Given the description of an element on the screen output the (x, y) to click on. 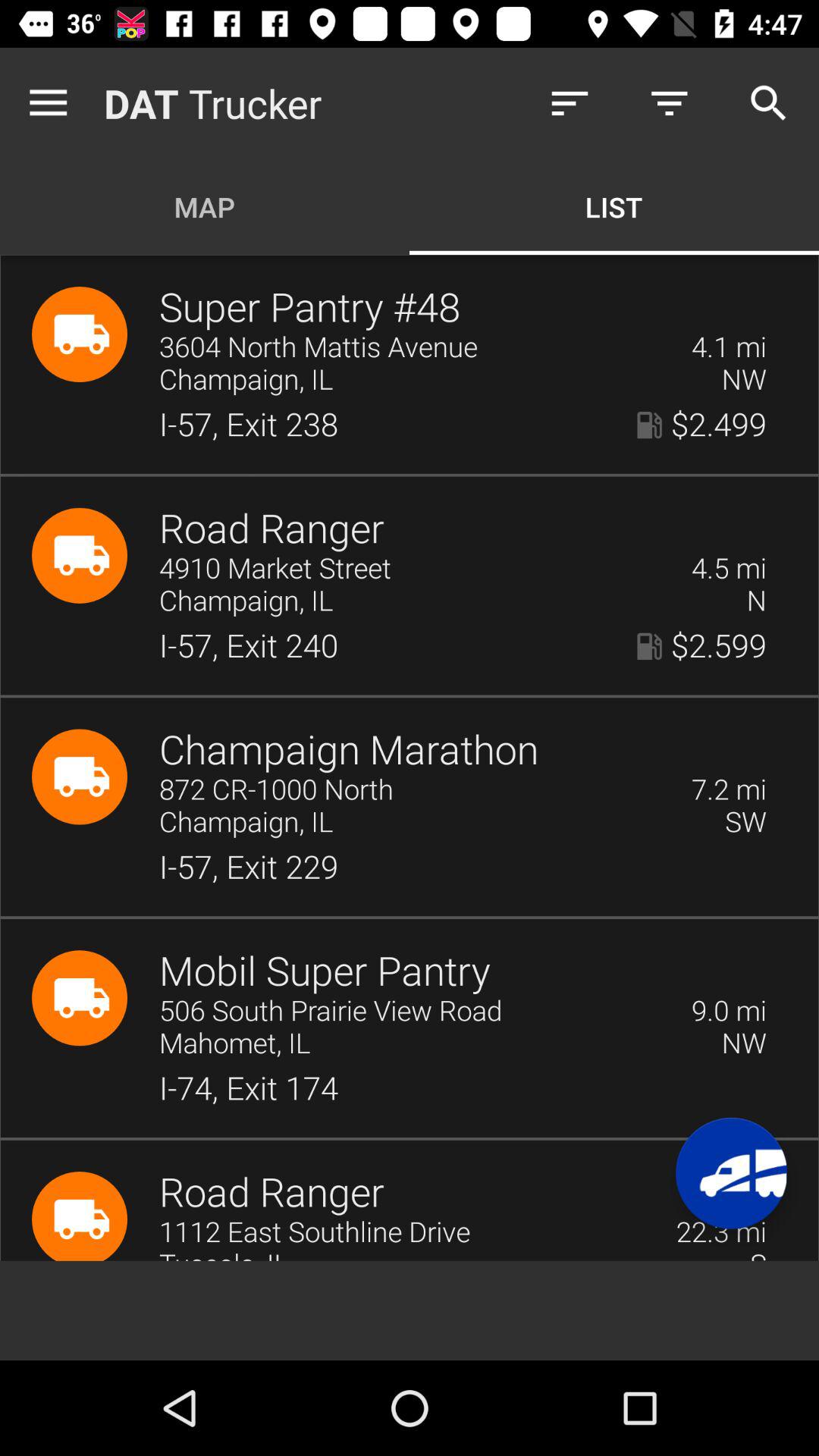
select the item next to 506 south prairie icon (728, 1011)
